Given the description of an element on the screen output the (x, y) to click on. 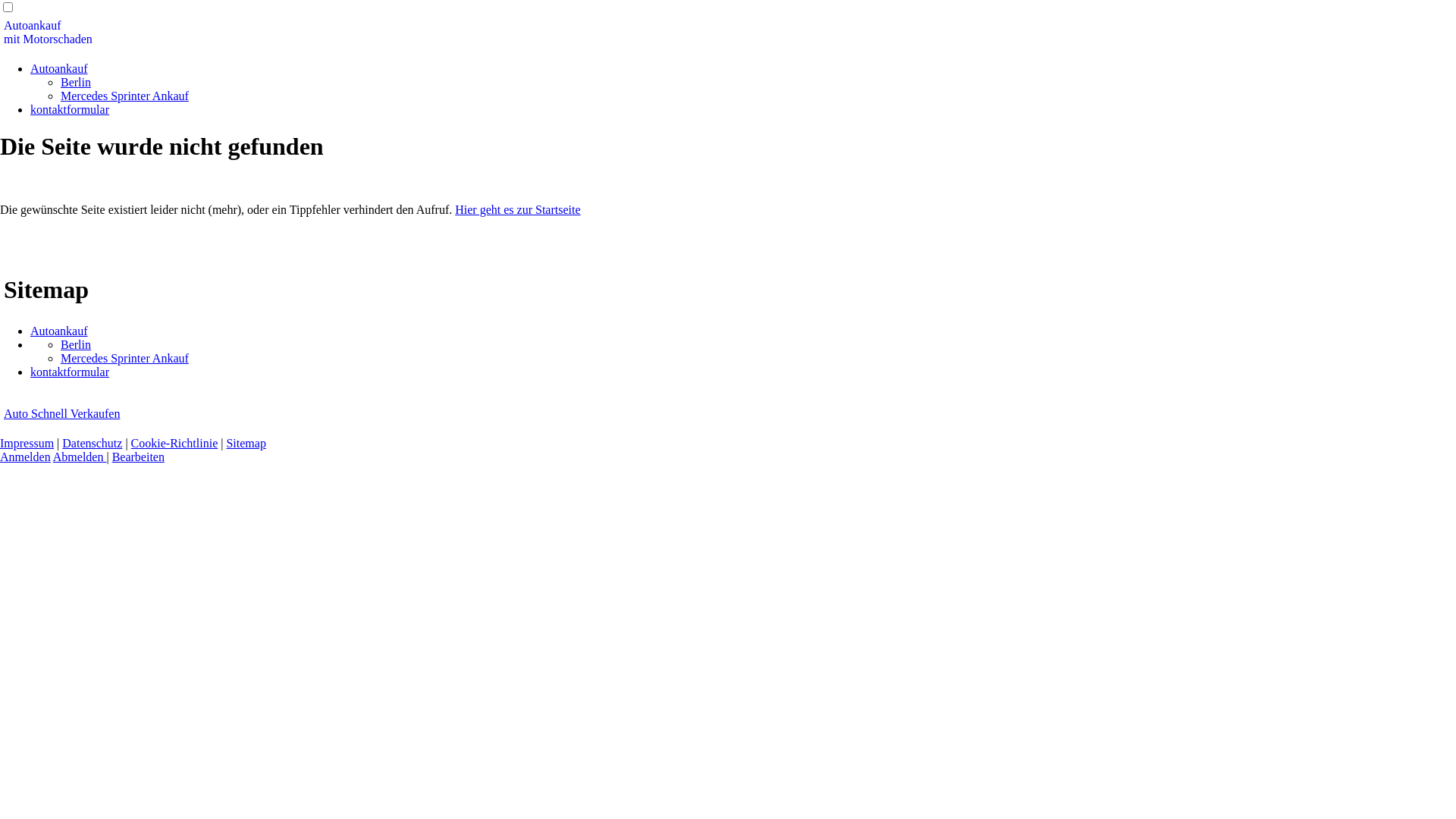
Cookie-Richtlinie Element type: text (174, 442)
Datenschutz Element type: text (92, 442)
Berlin Element type: text (75, 344)
kontaktformular Element type: text (69, 371)
Auto Schnell Verkaufen Element type: text (61, 413)
Impressum Element type: text (26, 442)
Sitemap Element type: text (245, 442)
Mercedes Sprinter Ankauf Element type: text (124, 357)
Autoankauf Element type: text (58, 68)
Anmelden Element type: text (25, 456)
Autoankauf Element type: text (58, 330)
Berlin Element type: text (75, 81)
Autoankauf
mit Motorschaden Element type: text (47, 31)
Hier geht es zur Startseite Element type: text (517, 209)
kontaktformular Element type: text (69, 109)
Abmelden Element type: text (79, 456)
Mercedes Sprinter Ankauf Element type: text (124, 95)
Bearbeiten Element type: text (138, 456)
